Given the description of an element on the screen output the (x, y) to click on. 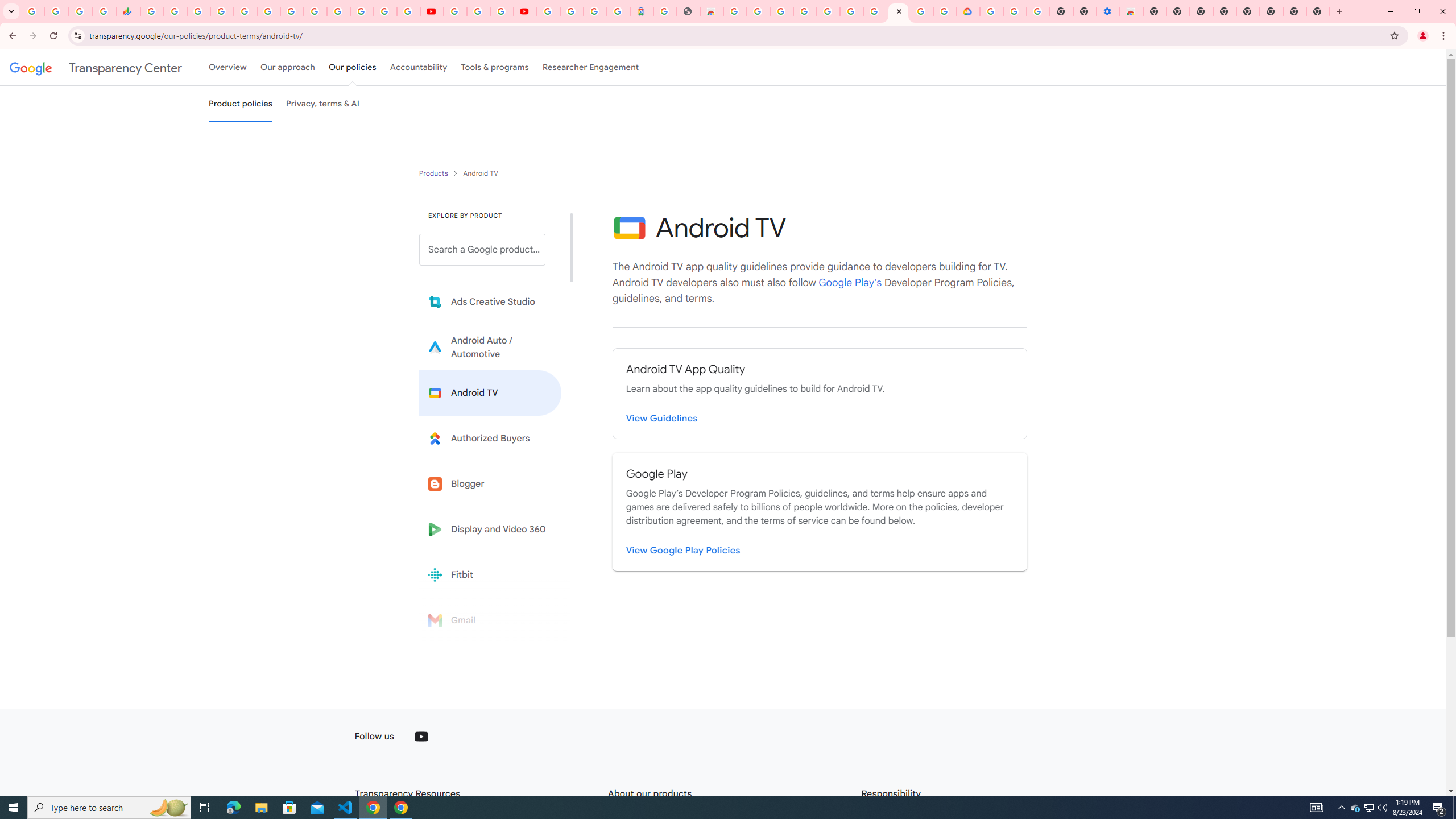
Sign in - Google Accounts (571, 11)
Create your Google Account (921, 11)
Tools & programs (494, 67)
Blogger (490, 483)
Android TV Policies and Guidelines - Transparency Center (291, 11)
Product policies (434, 173)
Google Account Help (478, 11)
Turn cookies on or off - Computer - Google Account Help (1038, 11)
